Given the description of an element on the screen output the (x, y) to click on. 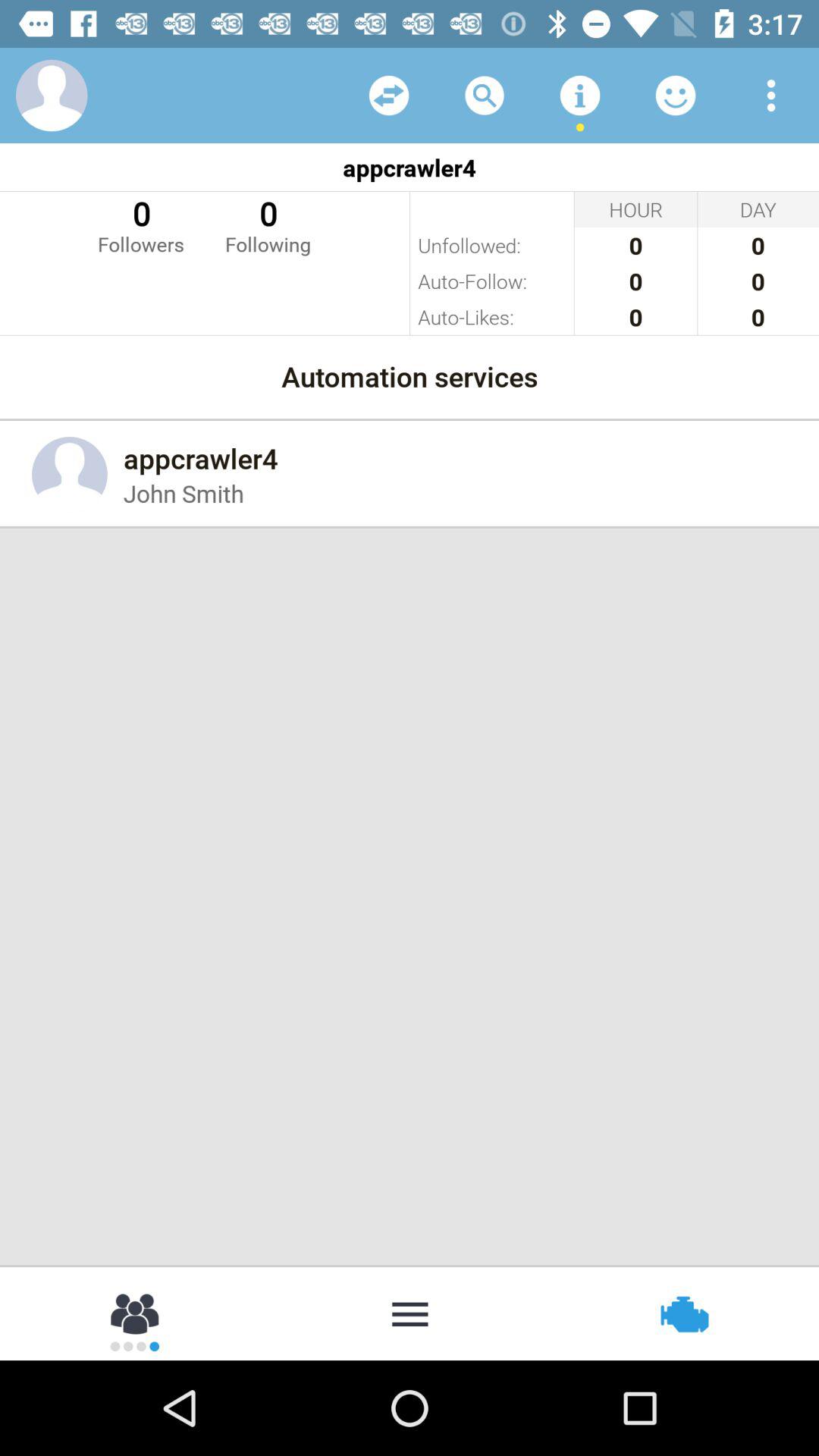
tap the item to the left of the 0
following item (140, 224)
